Given the description of an element on the screen output the (x, y) to click on. 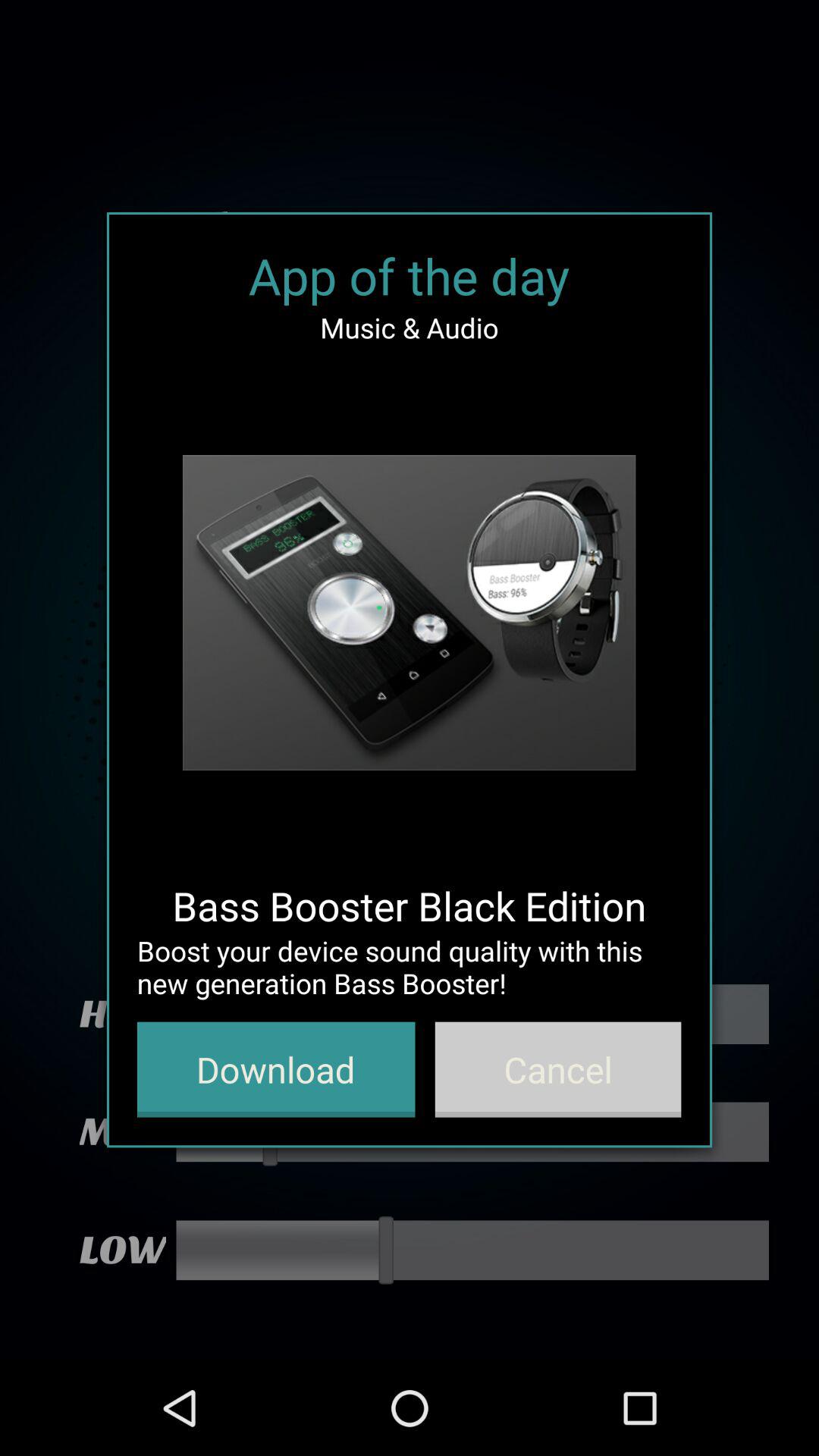
select the icon below boost your device icon (558, 1069)
